Given the description of an element on the screen output the (x, y) to click on. 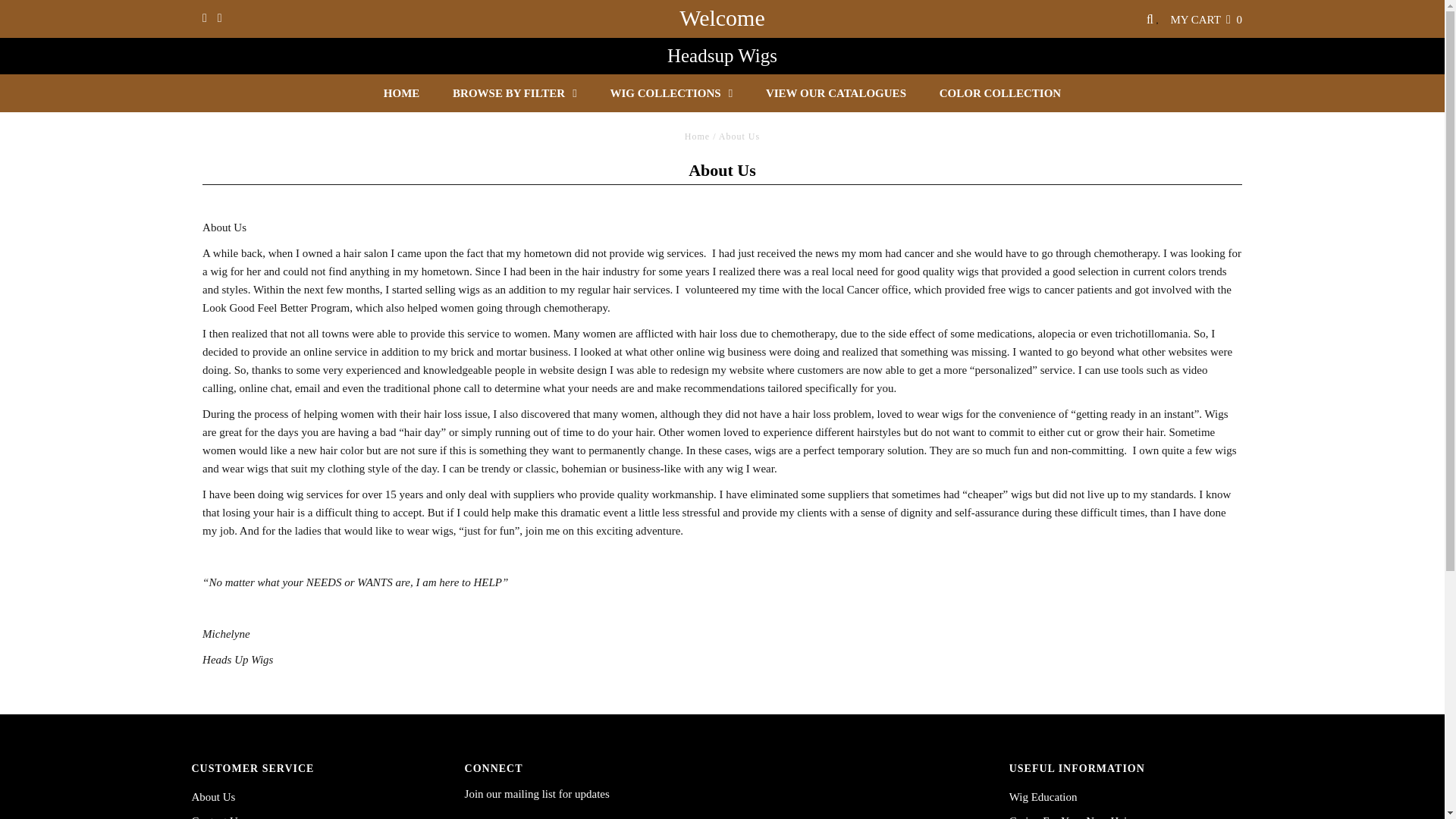
Headsup Wigs (721, 55)
HOME (401, 93)
MY CART    0 (1205, 19)
BROWSE BY FILTER (515, 93)
Home (697, 136)
